Given the description of an element on the screen output the (x, y) to click on. 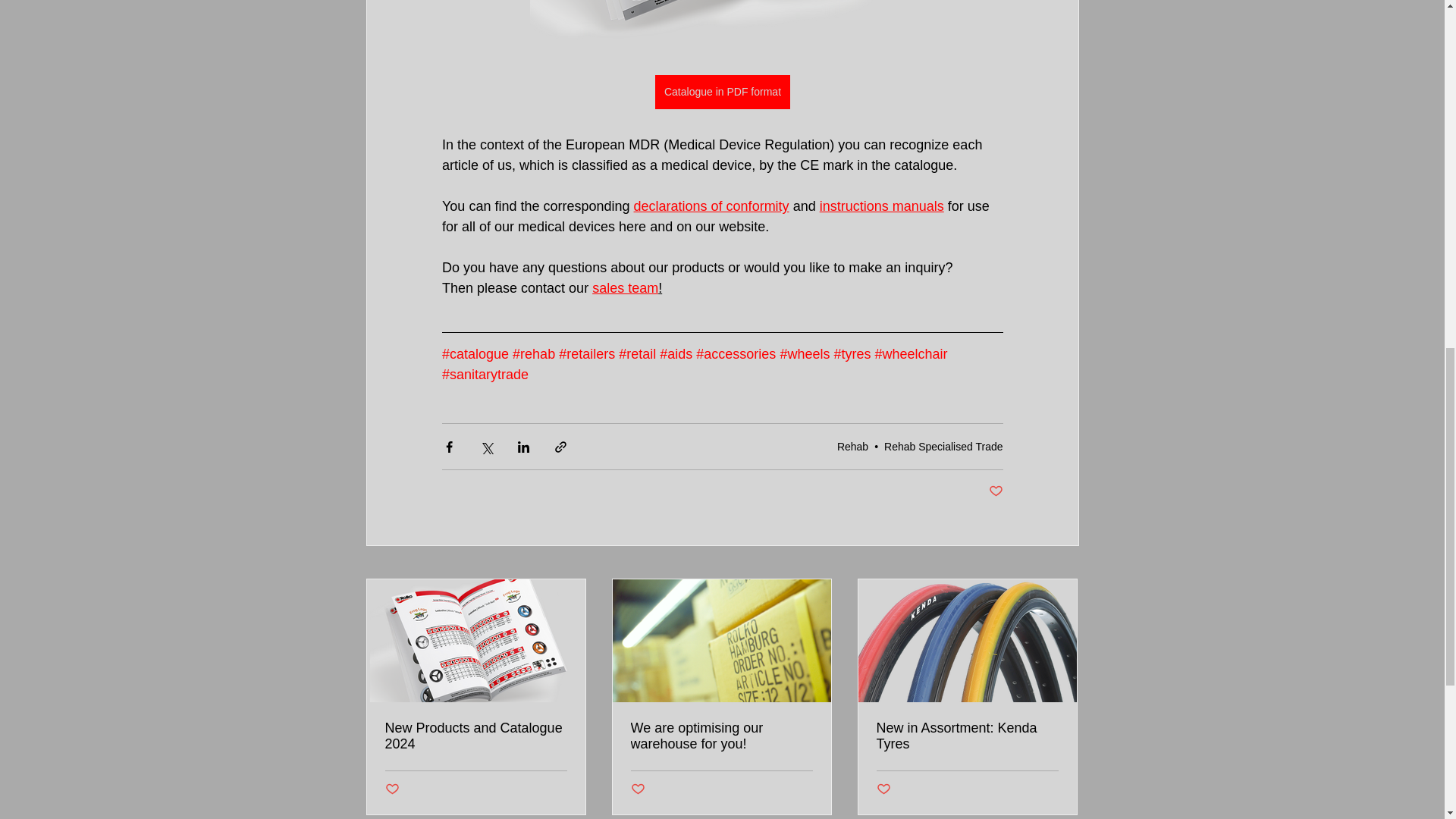
Catalogue in PDF format (721, 91)
Rehab Specialised Trade (943, 446)
instructions manuals (880, 206)
Post not marked as liked (391, 789)
sales team (625, 287)
Rehab (852, 446)
declarations of conformity (711, 206)
New Products and Catalogue 2024 (476, 736)
Post not marked as liked (995, 491)
